Given the description of an element on the screen output the (x, y) to click on. 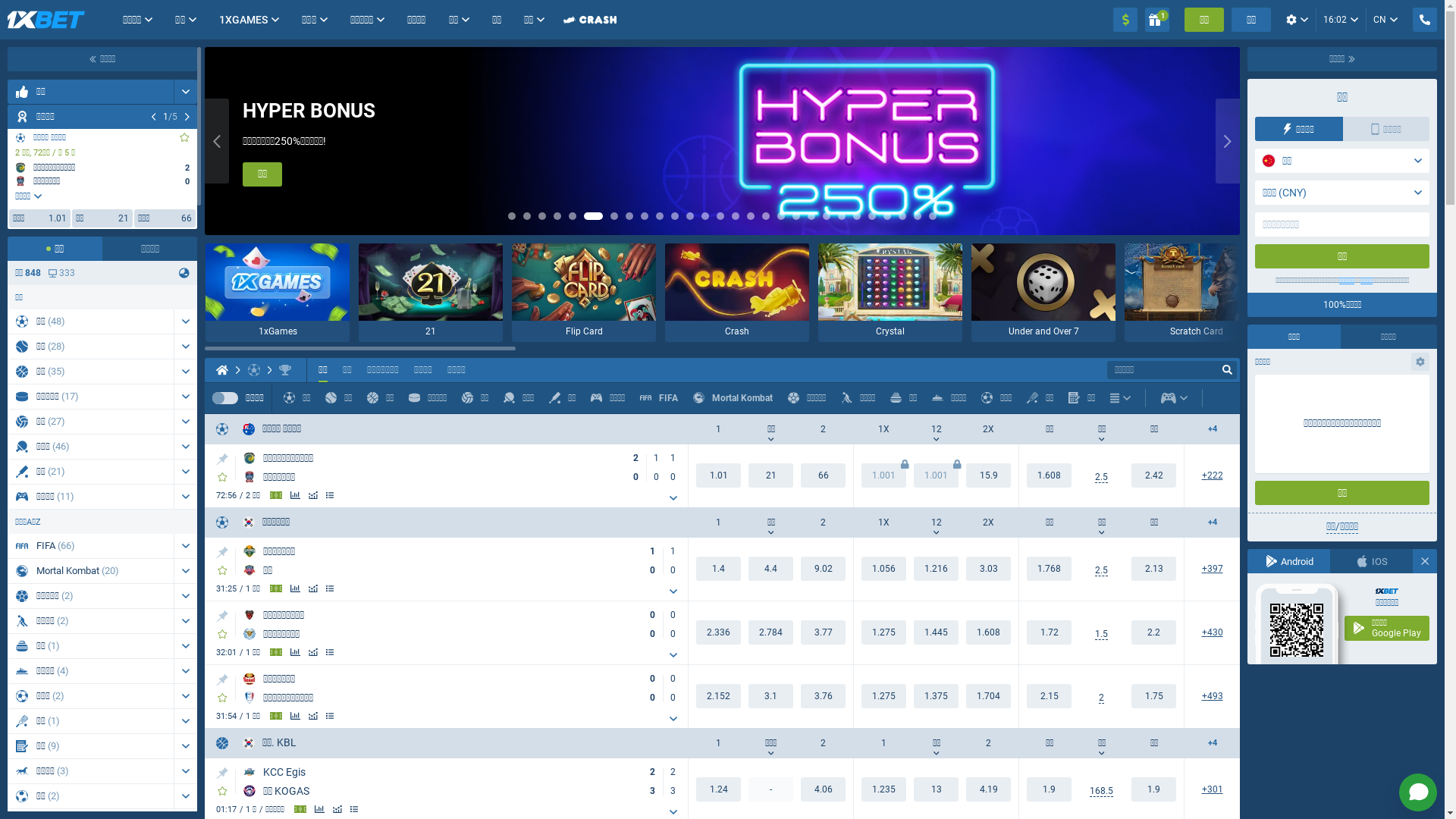
1.001 Element type: text (935, 475)
1.768 Element type: text (1048, 568)
3.76 Element type: text (822, 696)
4.4 Element type: text (770, 568)
2.42 Element type: text (1153, 475)
Scratch Card Element type: text (1196, 292)
493 Element type: text (1211, 696)
Mortal Kombat
23 Element type: text (90, 570)
12 Element type: text (935, 522)
12 Element type: text (935, 429)
15.9 Element type: text (988, 475)
+4 Element type: text (1211, 522)
337 Element type: text (61, 272)
Crash Element type: text (736, 292)
1xGames Element type: text (277, 292)
1.75 Element type: text (1153, 696)
430 Element type: text (1211, 632)
66 Element type: text (822, 475)
- Element type: text (770, 789)
1.24 Element type: text (883, 789)
169.5 Element type: text (1101, 791)
1.375 Element type: text (935, 696)
3.03 Element type: text (988, 568)
FIFA
68 Element type: text (90, 545)
3.77 Element type: text (822, 632)
1.9 Element type: text (1153, 789)
2 Element type: text (1101, 697)
+4 Element type: text (1211, 429)
+4 Element type: text (1211, 743)
3.1 Element type: text (770, 696)
2.15 Element type: text (1048, 696)
1.704 Element type: text (988, 696)
2.152 Element type: text (718, 696)
1.216 Element type: text (935, 568)
Crystal Element type: text (890, 292)
2.336 Element type: text (718, 632)
CN Element type: text (1385, 19)
9.02 Element type: text (822, 568)
21 Element type: text (430, 292)
1.72 Element type: text (1048, 632)
1XGAMES Element type: text (243, 19)
16:01 Element type: text (1340, 19)
1.5 Element type: text (1101, 634)
2.5 Element type: text (1101, 477)
1.4 Element type: text (718, 568)
1.056 Element type: text (883, 568)
1.275 Element type: text (883, 632)
225 Element type: text (1211, 475)
Under and Over 7 Element type: text (1043, 292)
1.608 Element type: text (988, 632)
4.29 Element type: text (822, 789)
2.5 Element type: text (1101, 570)
1.001 Element type: text (883, 475)
Flip Card Element type: text (583, 292)
1.275 Element type: text (883, 696)
2.13 Element type: text (1153, 568)
1 Element type: text (1157, 19)
1.608 Element type: text (1048, 475)
13 Element type: text (935, 789)
1.445 Element type: text (935, 632)
2.784 Element type: text (770, 632)
1.9 Element type: text (1048, 789)
1.22 Element type: text (718, 789)
4.17 Element type: text (988, 789)
1.01 Element type: text (718, 475)
393 Element type: text (1211, 568)
21 Element type: text (770, 475)
2.2 Element type: text (1153, 632)
